Given the description of an element on the screen output the (x, y) to click on. 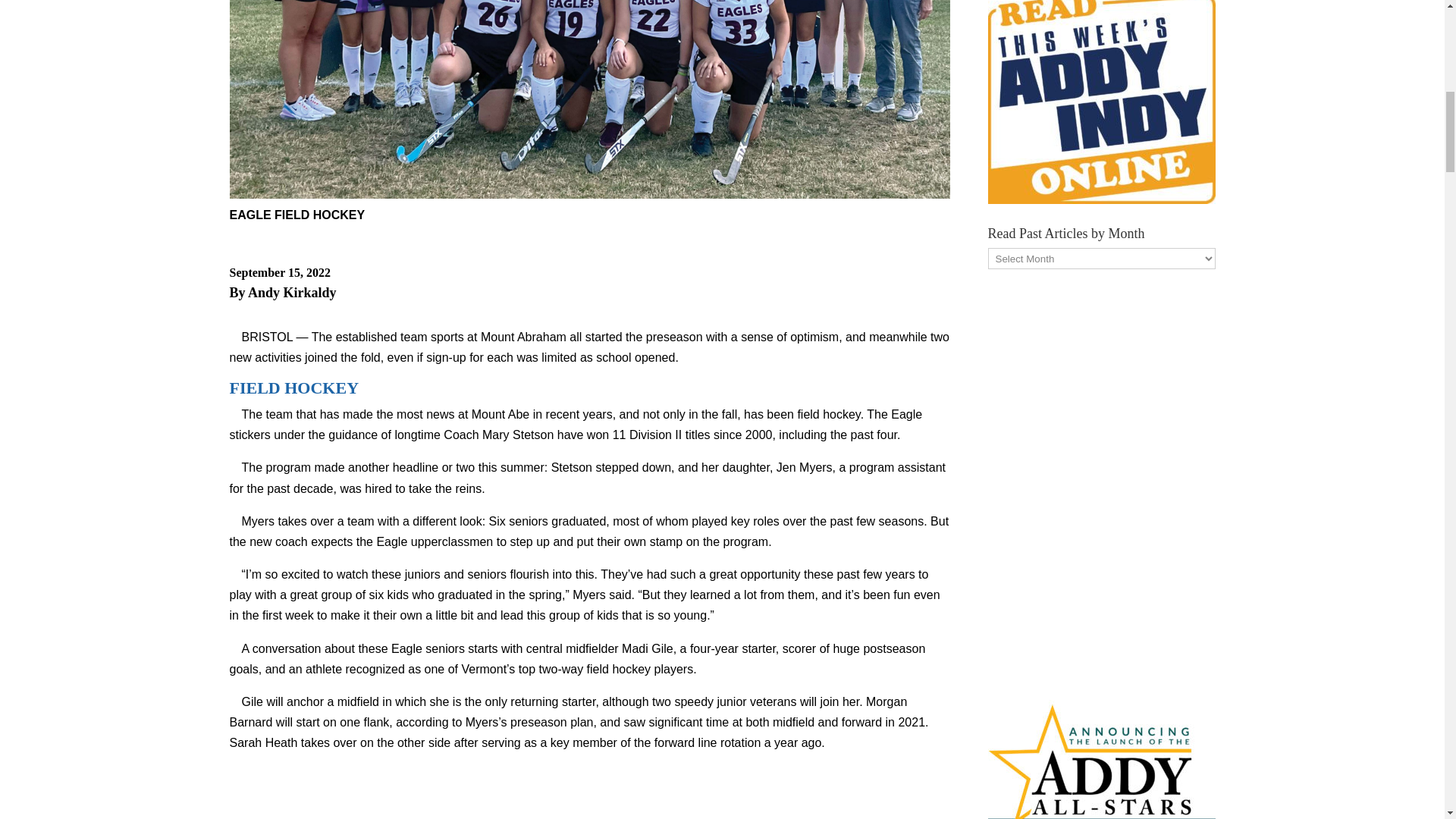
3rd party ad content (1100, 480)
3rd party ad content (590, 796)
